Given the description of an element on the screen output the (x, y) to click on. 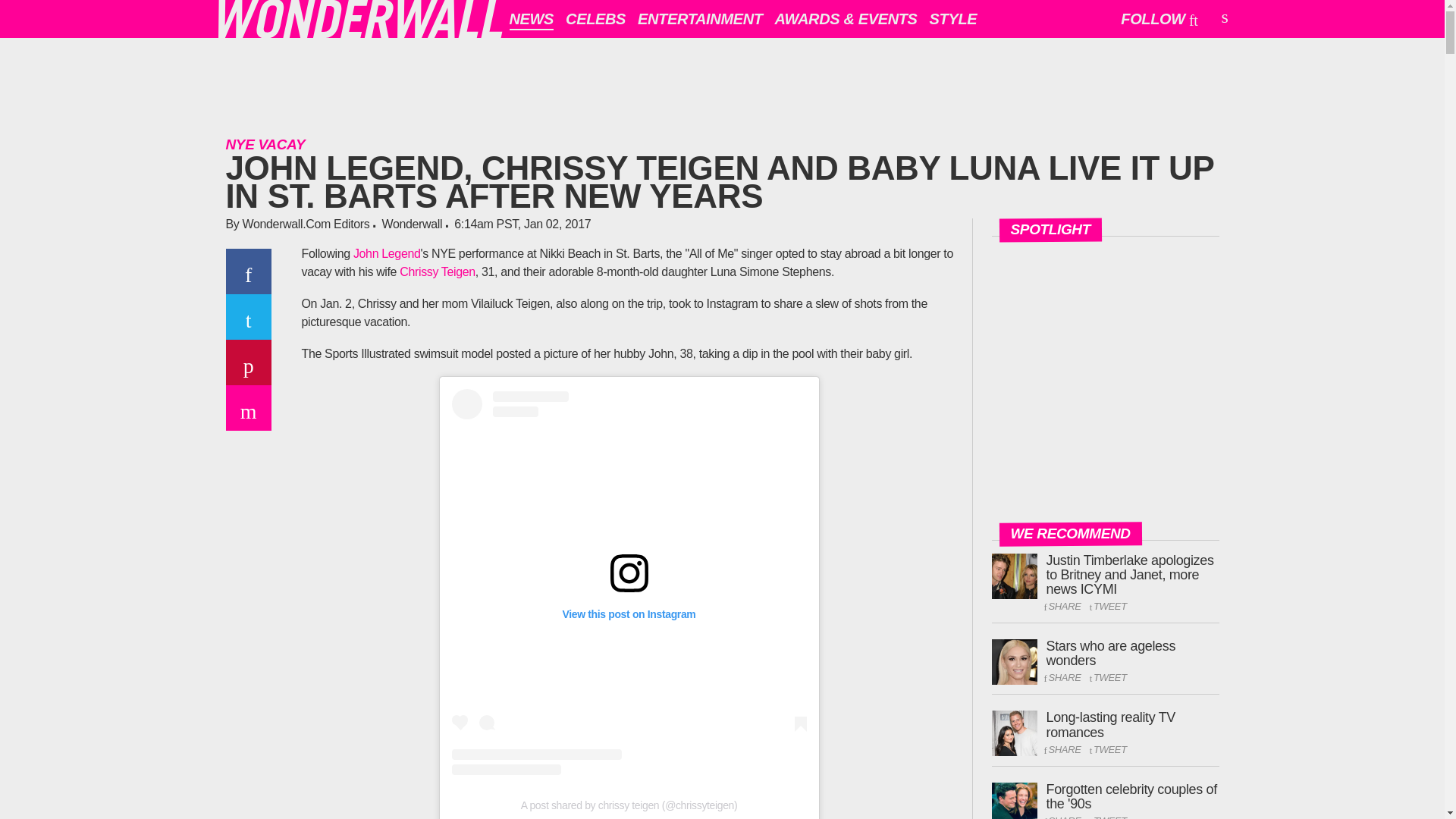
NEWS (531, 18)
CELEBS (595, 18)
STYLE (953, 18)
ENTERTAINMENT (699, 18)
Search for: (1223, 17)
